Given the description of an element on the screen output the (x, y) to click on. 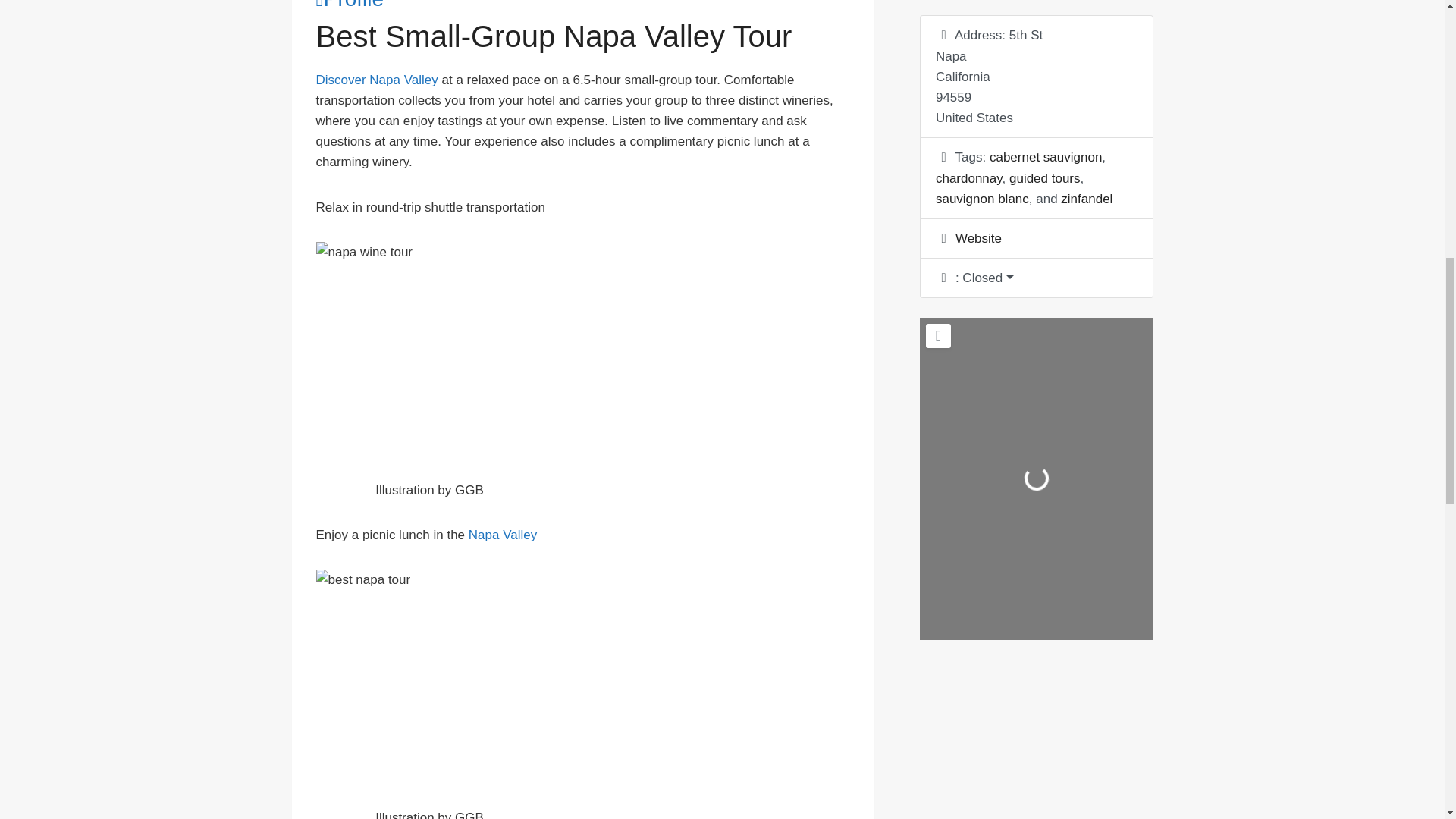
Napa Valley (502, 534)
Small Group Napa Valley Tour (502, 534)
Discover Napa Valley (376, 79)
Small Group Napa Valley Tour (376, 79)
Profile (349, 5)
